Given the description of an element on the screen output the (x, y) to click on. 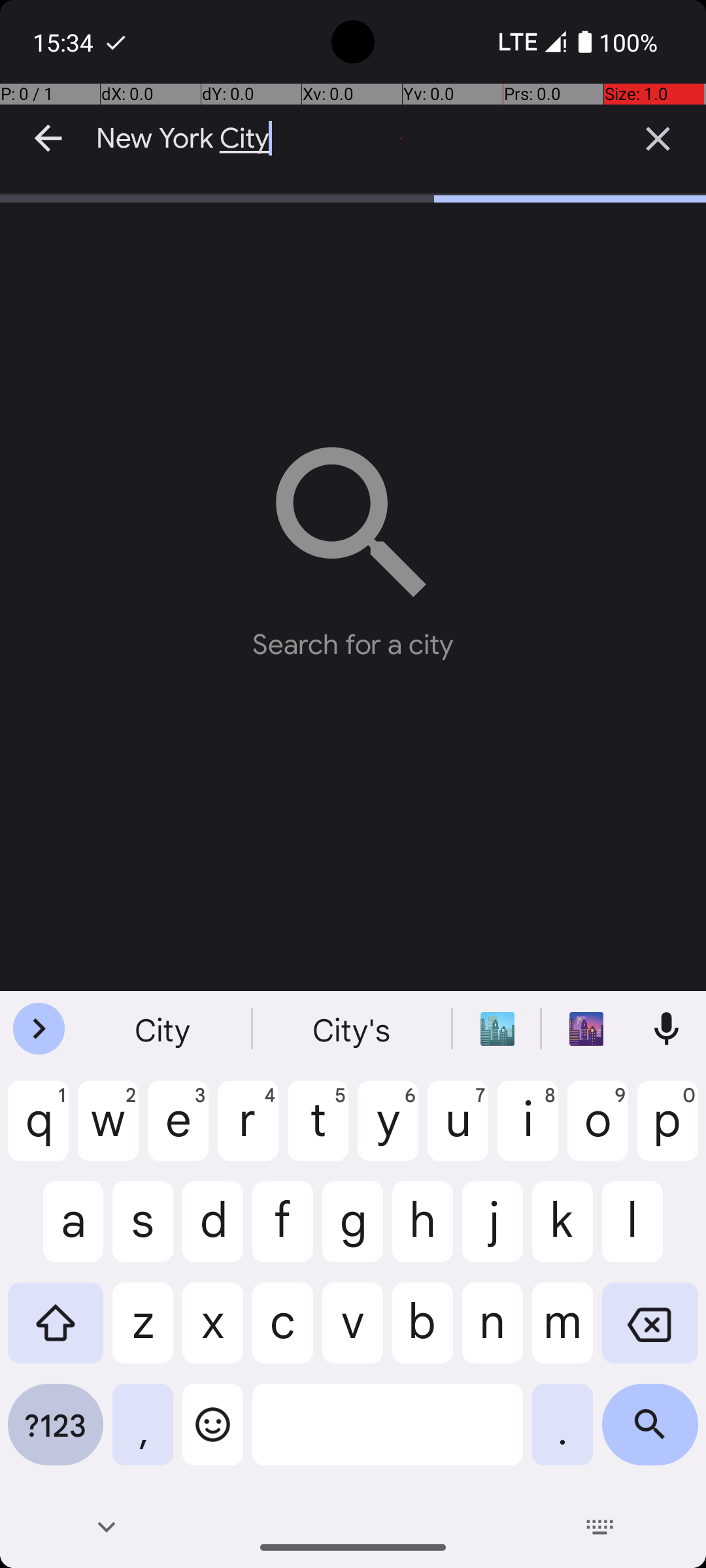
New York City Element type: android.widget.EditText (352, 138)
Clear text Element type: android.widget.ImageButton (657, 138)
Search for a city Element type: android.widget.TextView (353, 541)
City Element type: android.widget.FrameLayout (163, 1028)
City's Element type: android.widget.FrameLayout (352, 1028)
emoji 🏙️ Element type: android.widget.FrameLayout (497, 1028)
emoji 🌆 Element type: android.widget.FrameLayout (585, 1028)
